Given the description of an element on the screen output the (x, y) to click on. 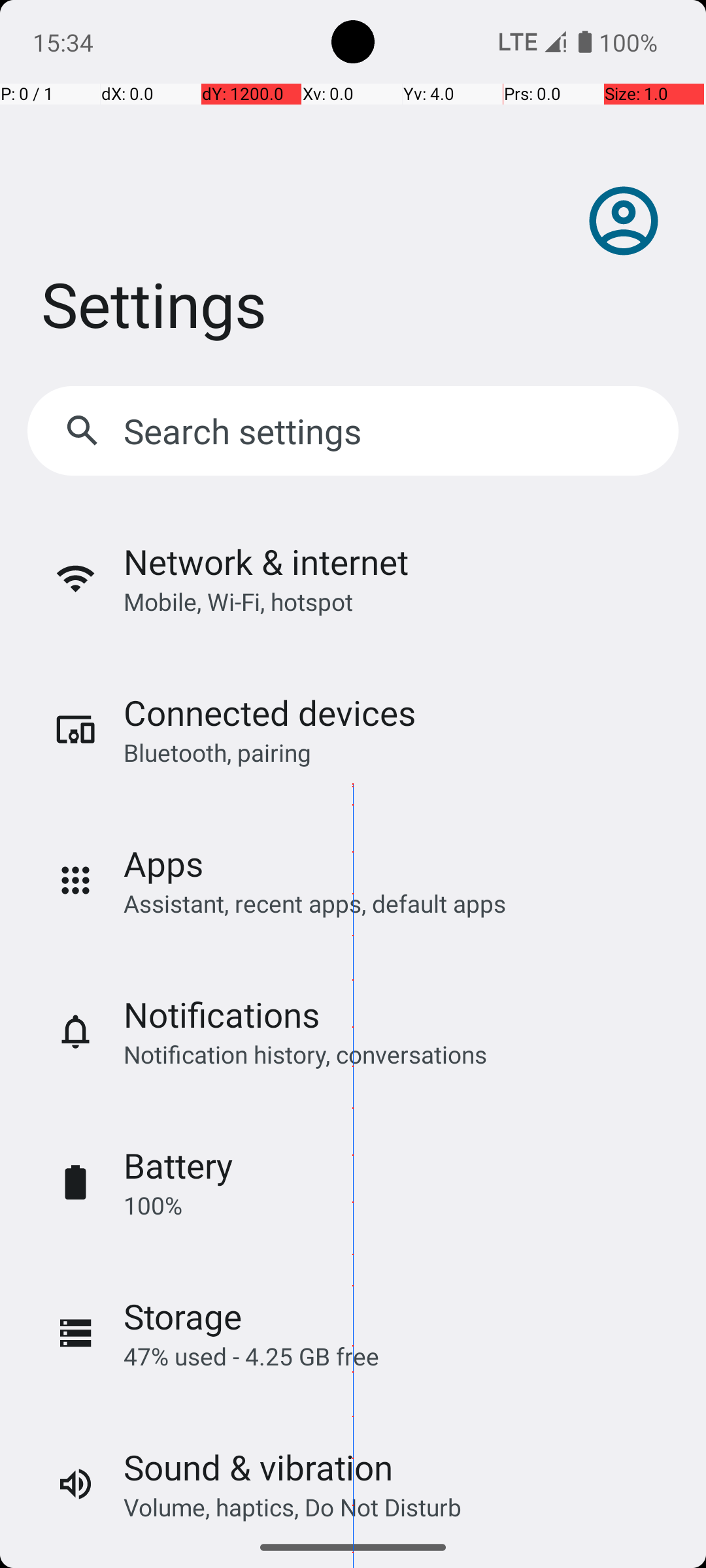
47% used - 4.25 GB free Element type: android.widget.TextView (251, 1355)
